Given the description of an element on the screen output the (x, y) to click on. 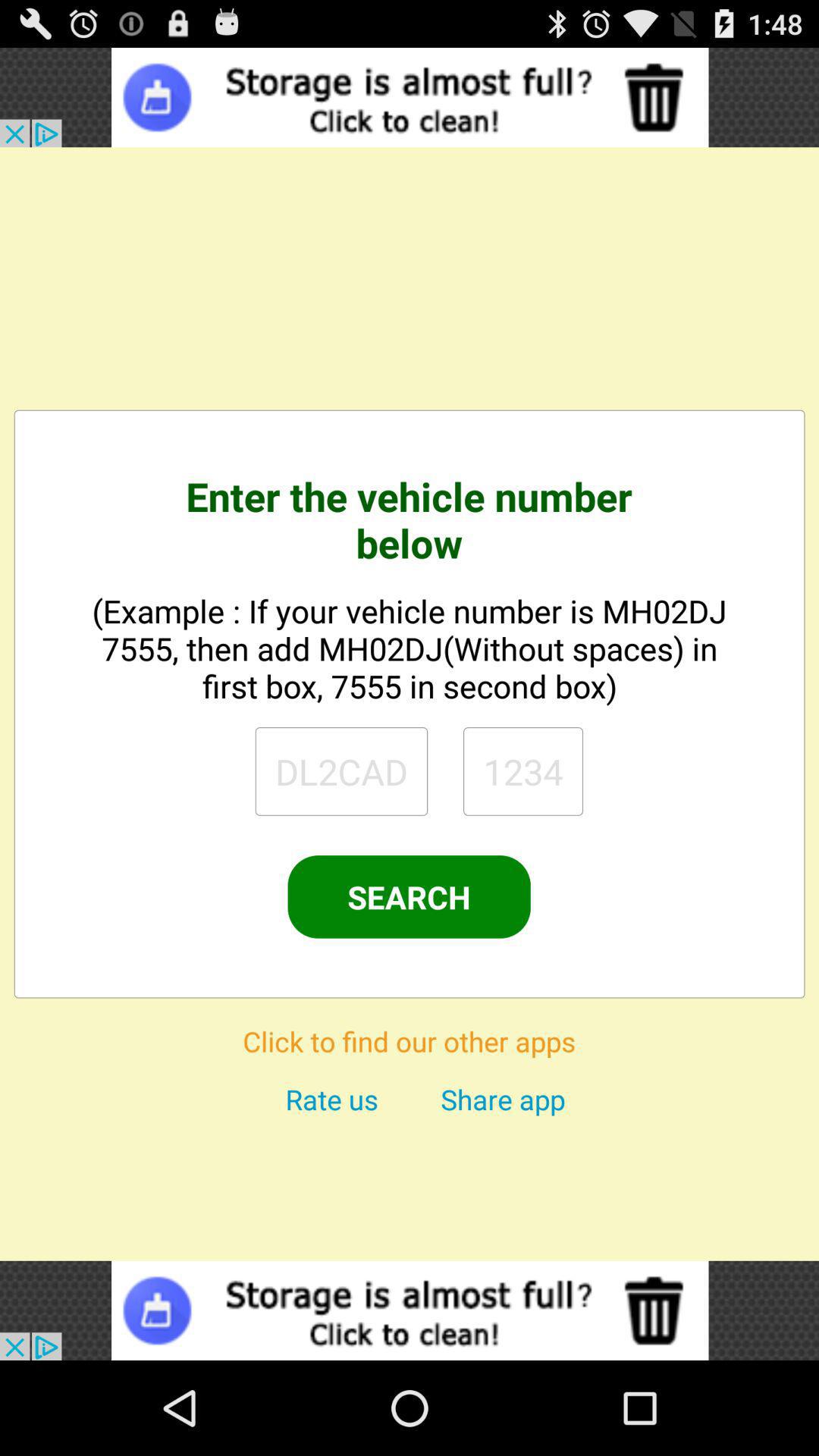
write vehicle number (341, 771)
